Given the description of an element on the screen output the (x, y) to click on. 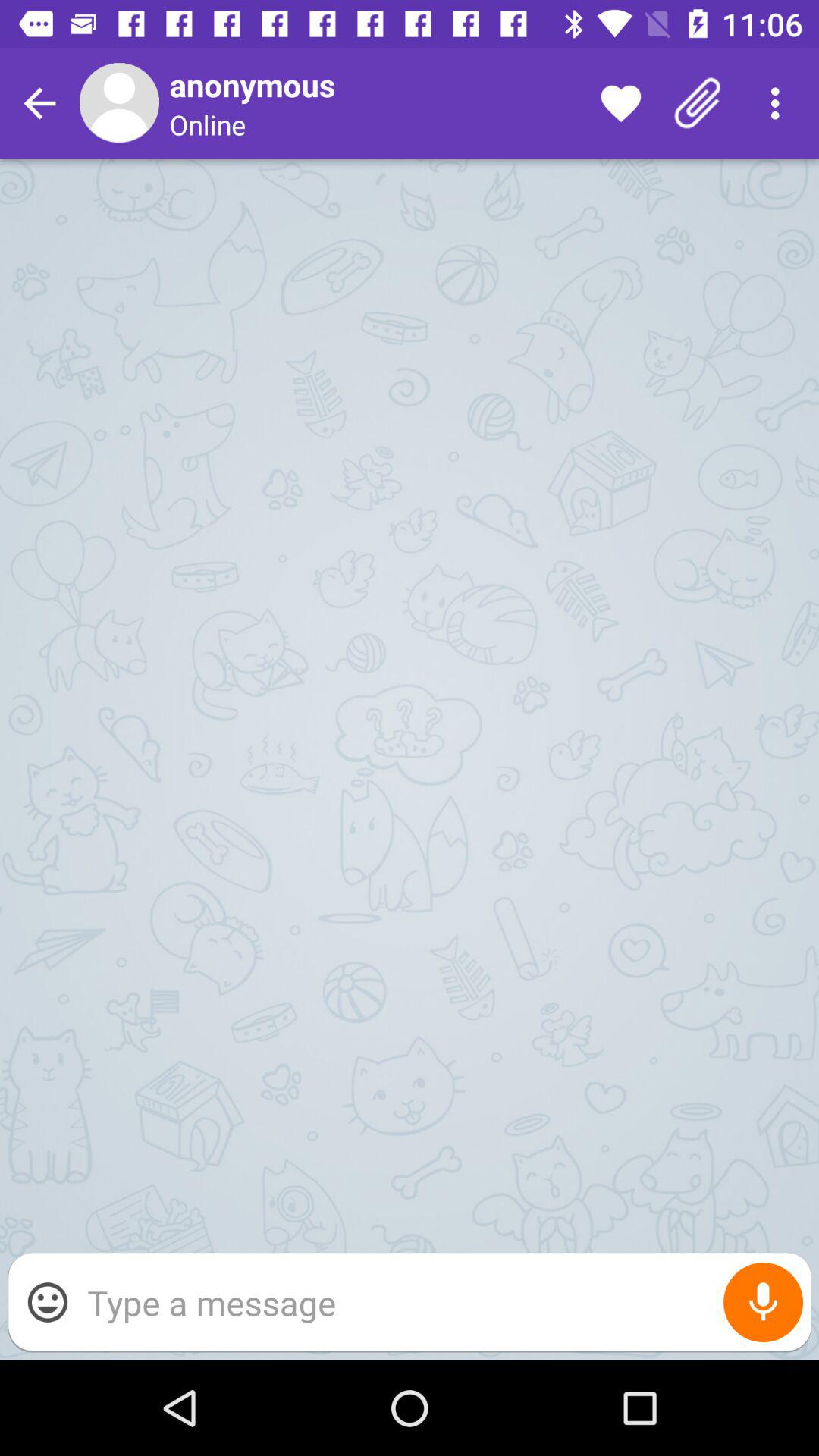
launch the item at the bottom left corner (47, 1302)
